Given the description of an element on the screen output the (x, y) to click on. 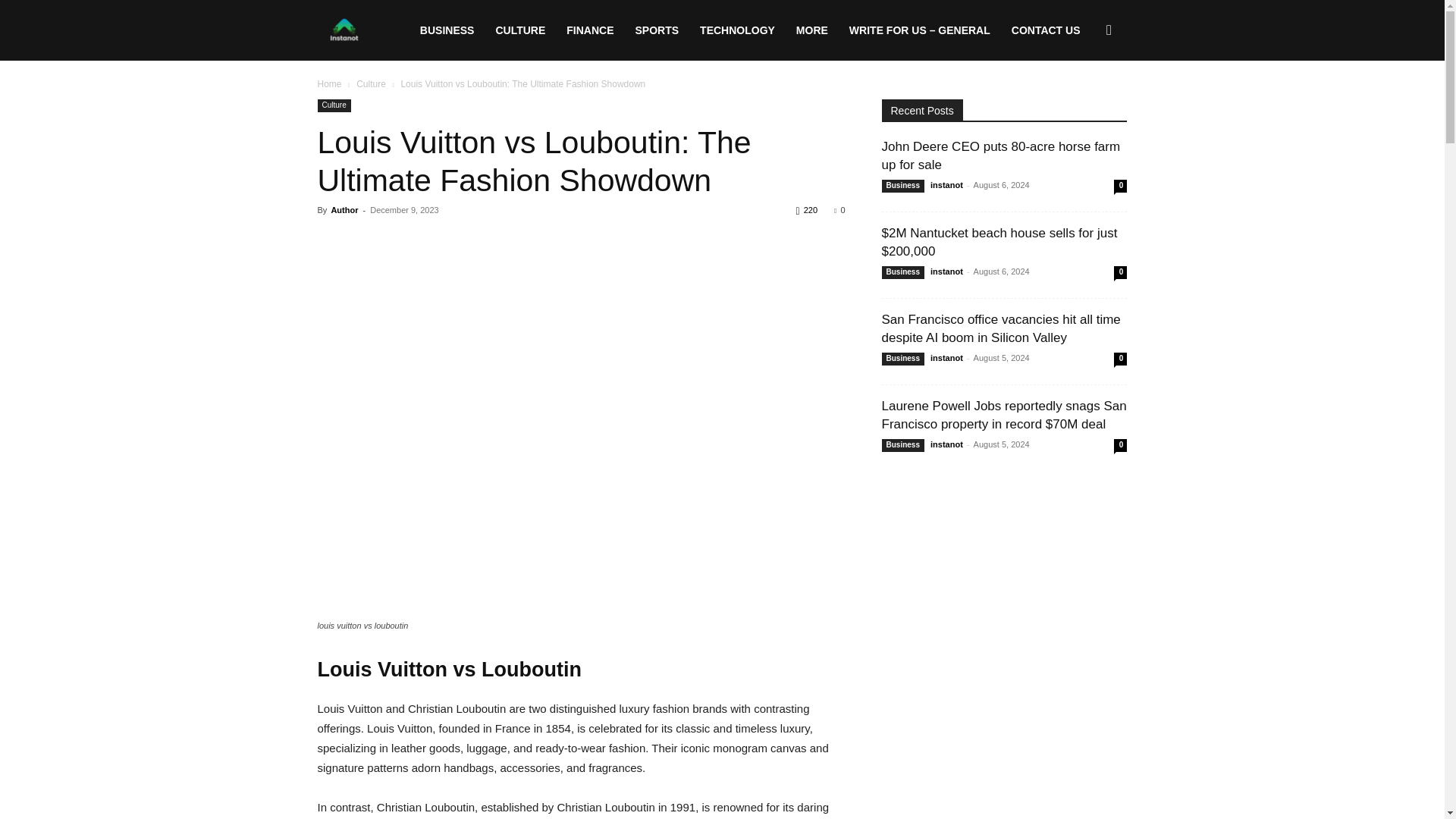
TECHNOLOGY (737, 30)
SPORTS (657, 30)
View all posts in Culture (370, 83)
Home (328, 83)
Real-time News Hub (344, 30)
BUSINESS (446, 30)
CONTACT US (1045, 30)
FINANCE (590, 30)
Author (344, 209)
Culture (333, 105)
